Given the description of an element on the screen output the (x, y) to click on. 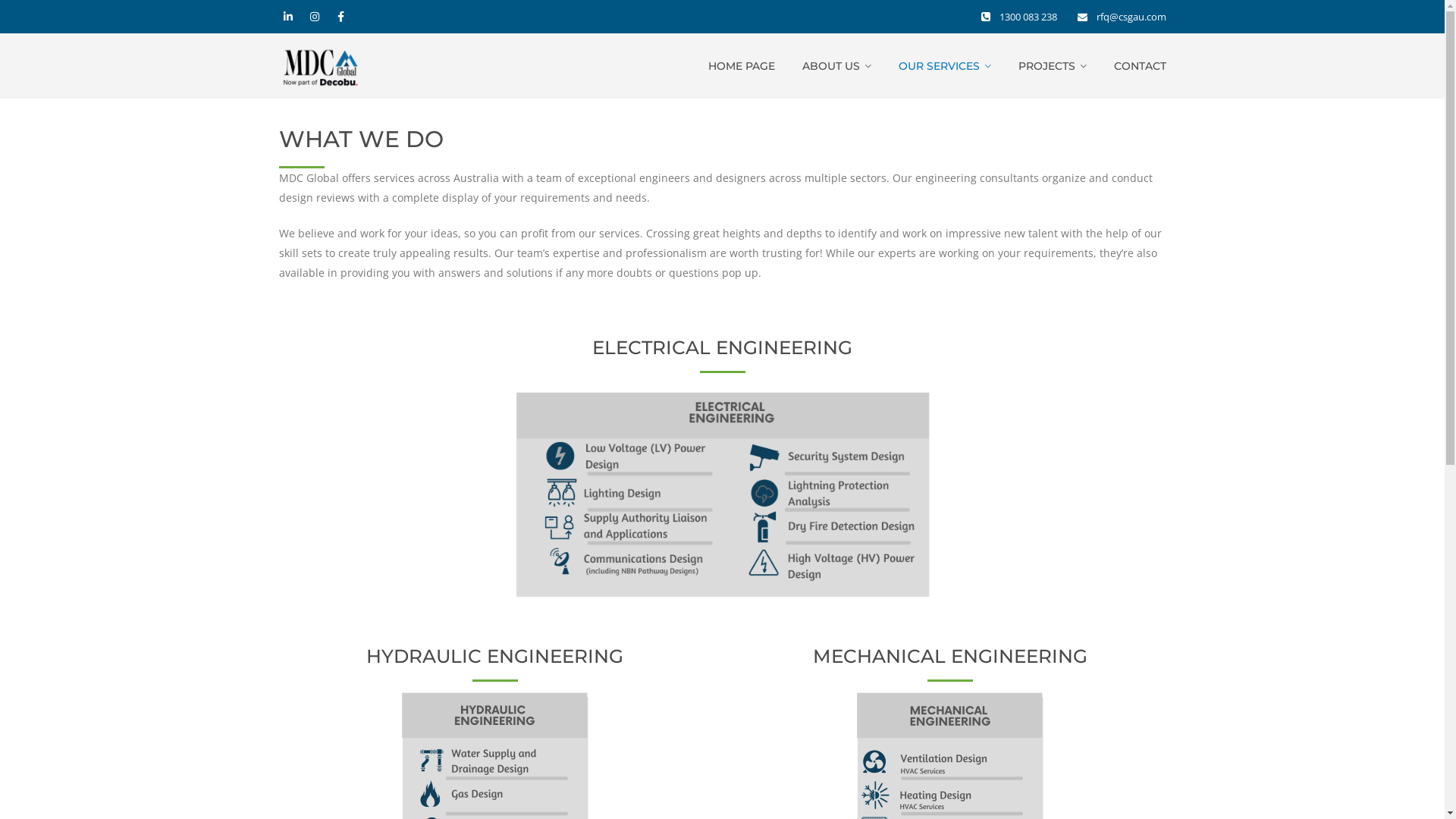
rfq@csgau.com Element type: text (1131, 16)
CONTACT Element type: text (1139, 65)
Copy of MDC Services (1) Element type: hover (721, 494)
1300 083 238 Element type: text (1028, 16)
HOME PAGE Element type: text (741, 65)
OUR SERVICES Element type: text (943, 65)
ABOUT US Element type: text (836, 65)
PROJECTS Element type: text (1051, 65)
